Given the description of an element on the screen output the (x, y) to click on. 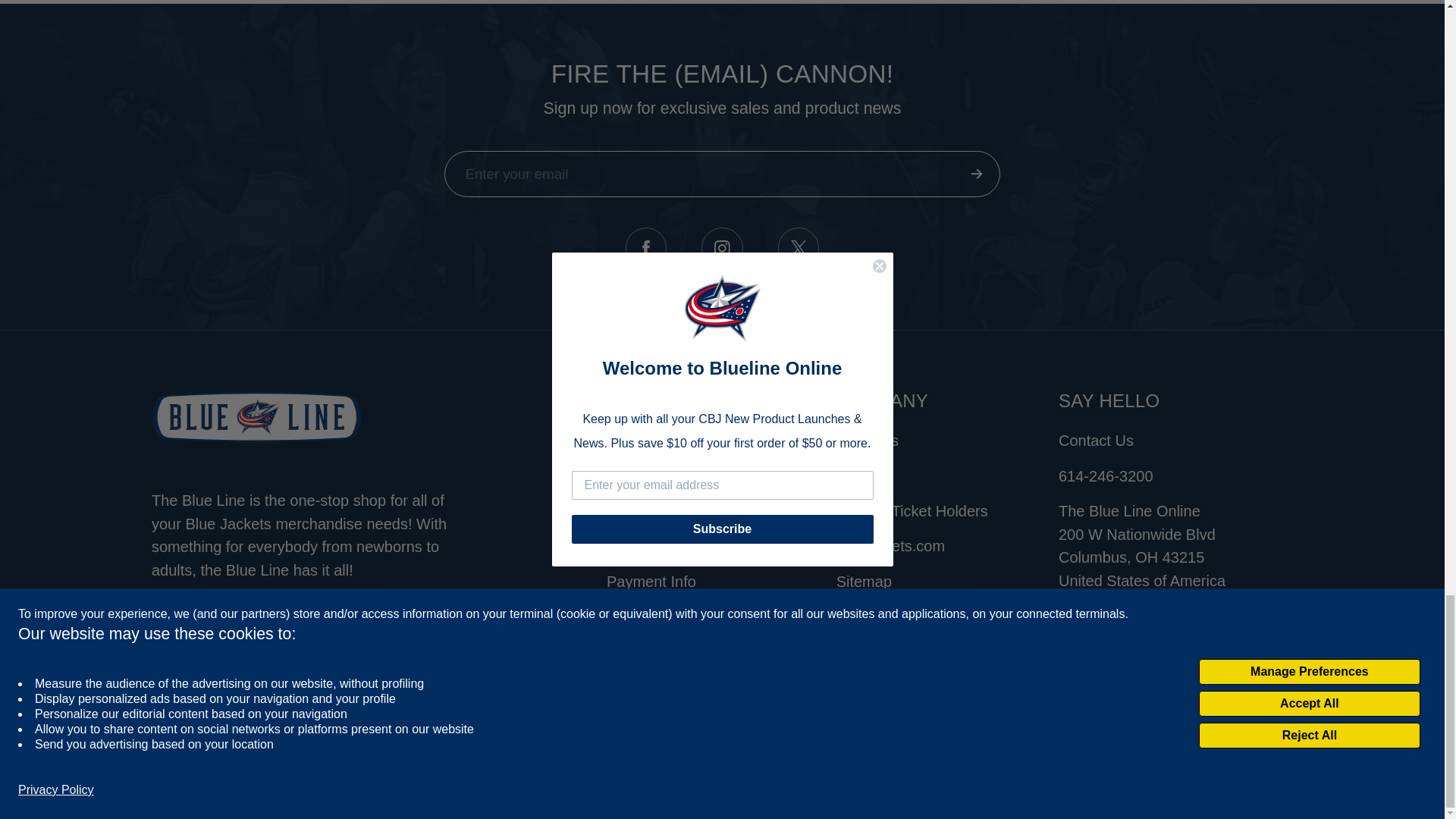
Instagram (721, 248)
X (798, 248)
Facebook (646, 248)
Delaware North Logo (1226, 765)
